Given the description of an element on the screen output the (x, y) to click on. 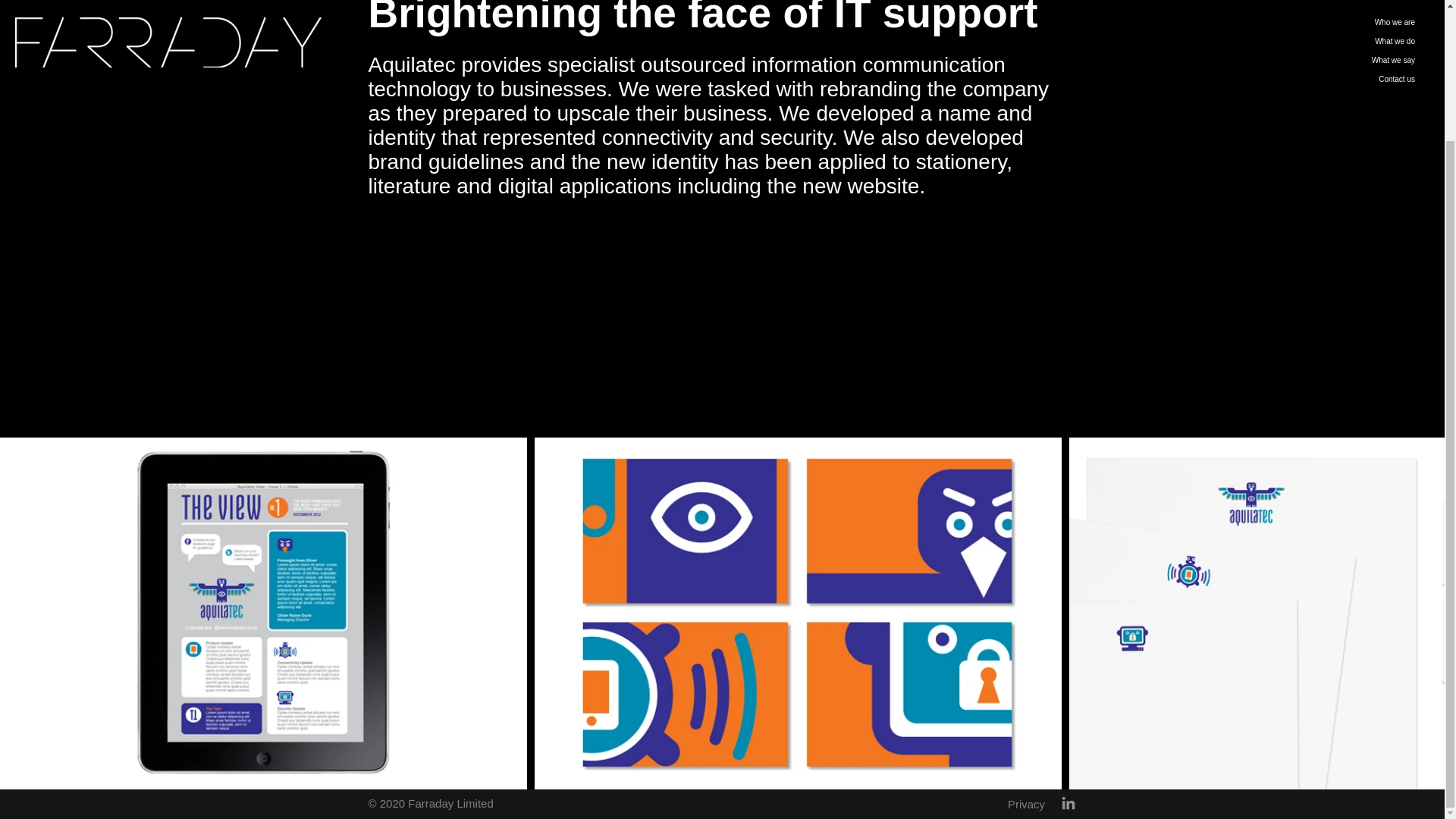
Privacy (1025, 804)
